Given the description of an element on the screen output the (x, y) to click on. 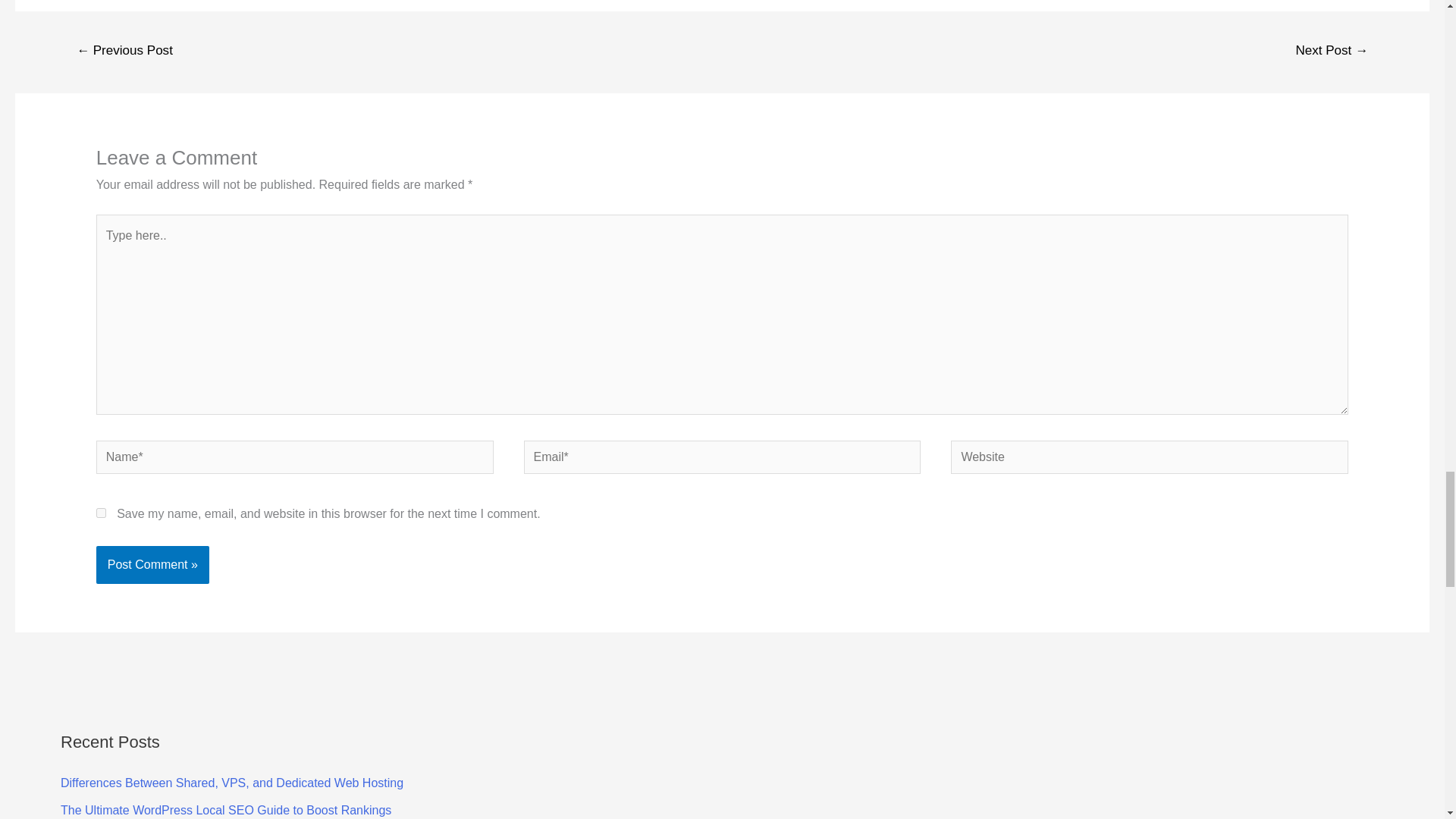
Differences Between Shared, VPS, and Dedicated Web Hosting (232, 782)
The Ultimate WordPress Local SEO Guide to Boost Rankings (226, 809)
yes (101, 512)
